Given the description of an element on the screen output the (x, y) to click on. 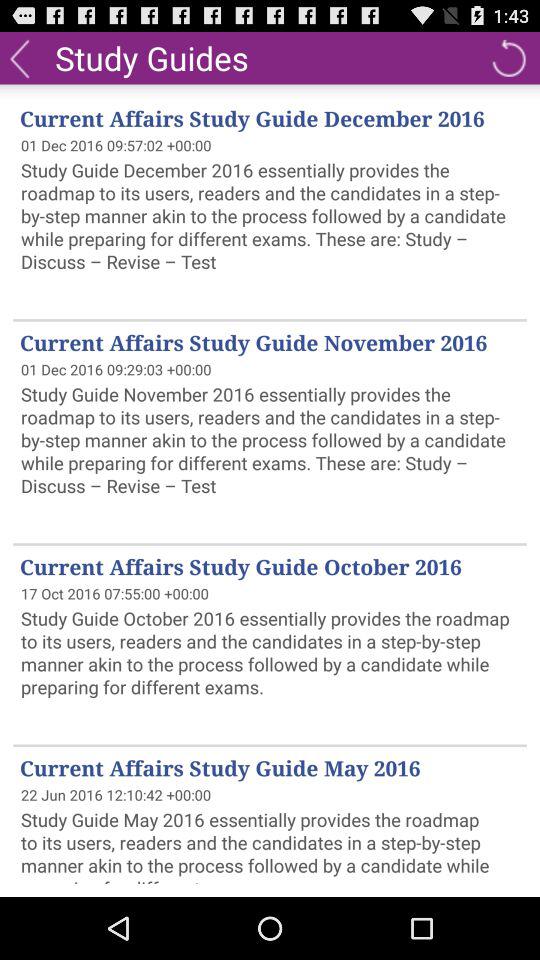
go back (508, 57)
